Given the description of an element on the screen output the (x, y) to click on. 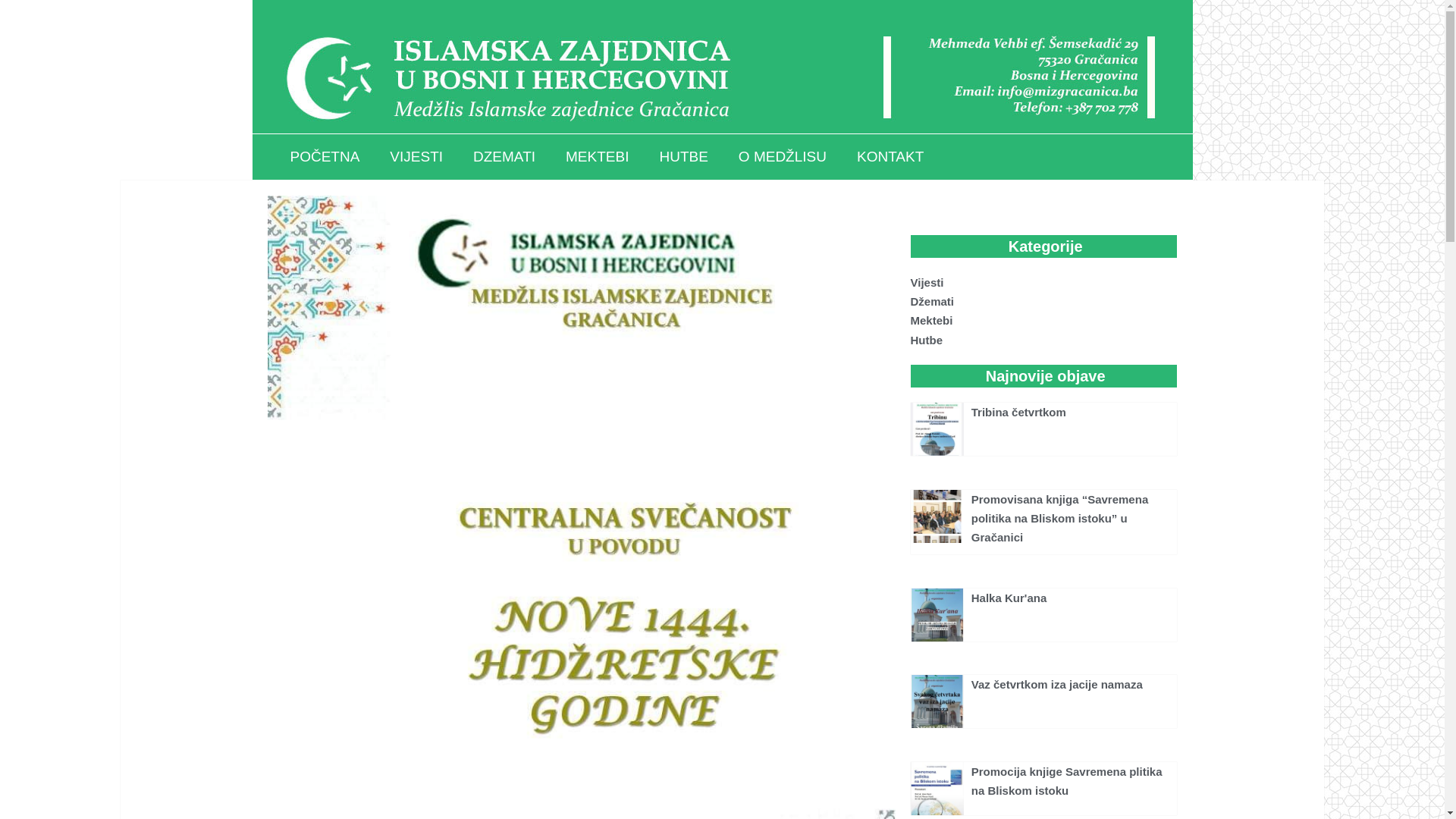
Halka Kur'ana Element type: text (1008, 597)
VIJESTI Element type: text (416, 156)
Vijesti Element type: text (1043, 282)
Hutbe Element type: text (1043, 339)
KONTAKT Element type: text (889, 156)
Mektebi Element type: text (1043, 319)
HUTBE Element type: text (682, 156)
MEKTEBI Element type: text (596, 156)
DZEMATI Element type: text (504, 156)
Promocija knjige Savremena plitika na Bliskom istoku Element type: text (1066, 781)
